Given the description of an element on the screen output the (x, y) to click on. 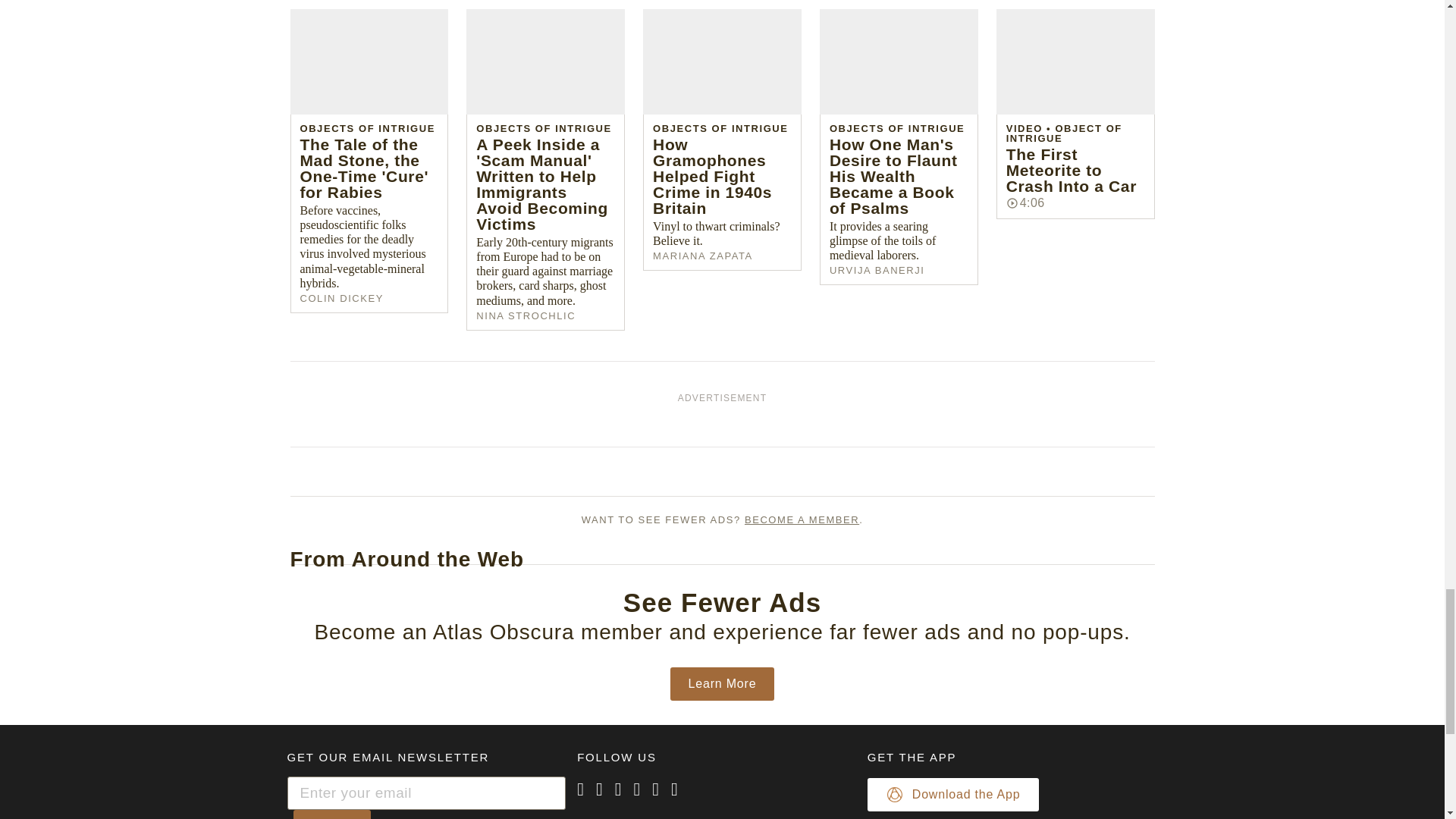
Submit (331, 814)
